Given the description of an element on the screen output the (x, y) to click on. 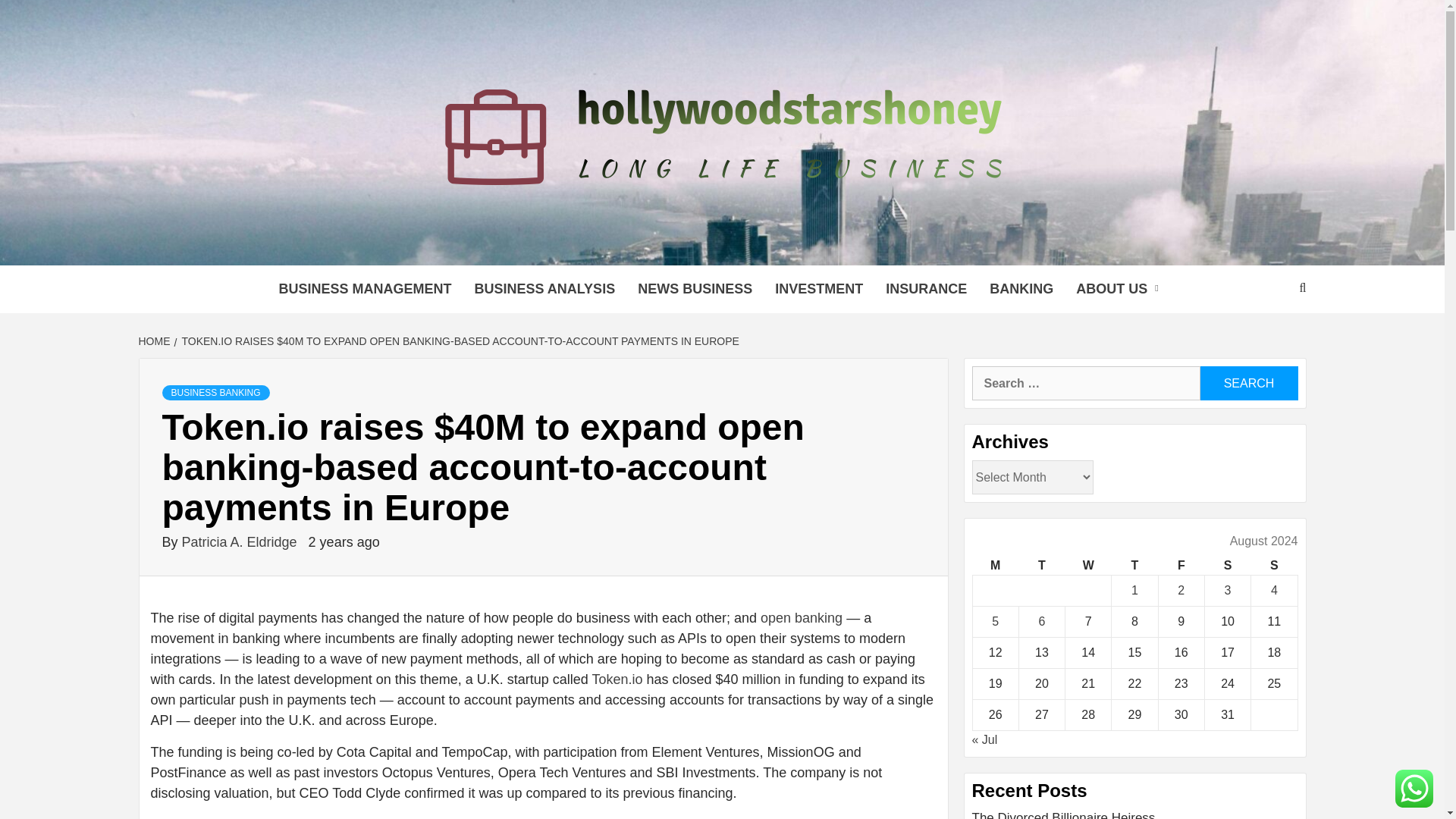
NEWS BUSINESS (694, 288)
HOME (155, 340)
BUSINESS BANKING (215, 392)
Saturday (1227, 565)
Sunday (1273, 565)
Token.io (616, 679)
Thursday (1134, 565)
Friday (1180, 565)
INVESTMENT (818, 288)
Patricia A. Eldridge (241, 541)
Monday (994, 565)
BANKING (1021, 288)
Search (1248, 383)
INSURANCE (926, 288)
Search (1248, 383)
